Given the description of an element on the screen output the (x, y) to click on. 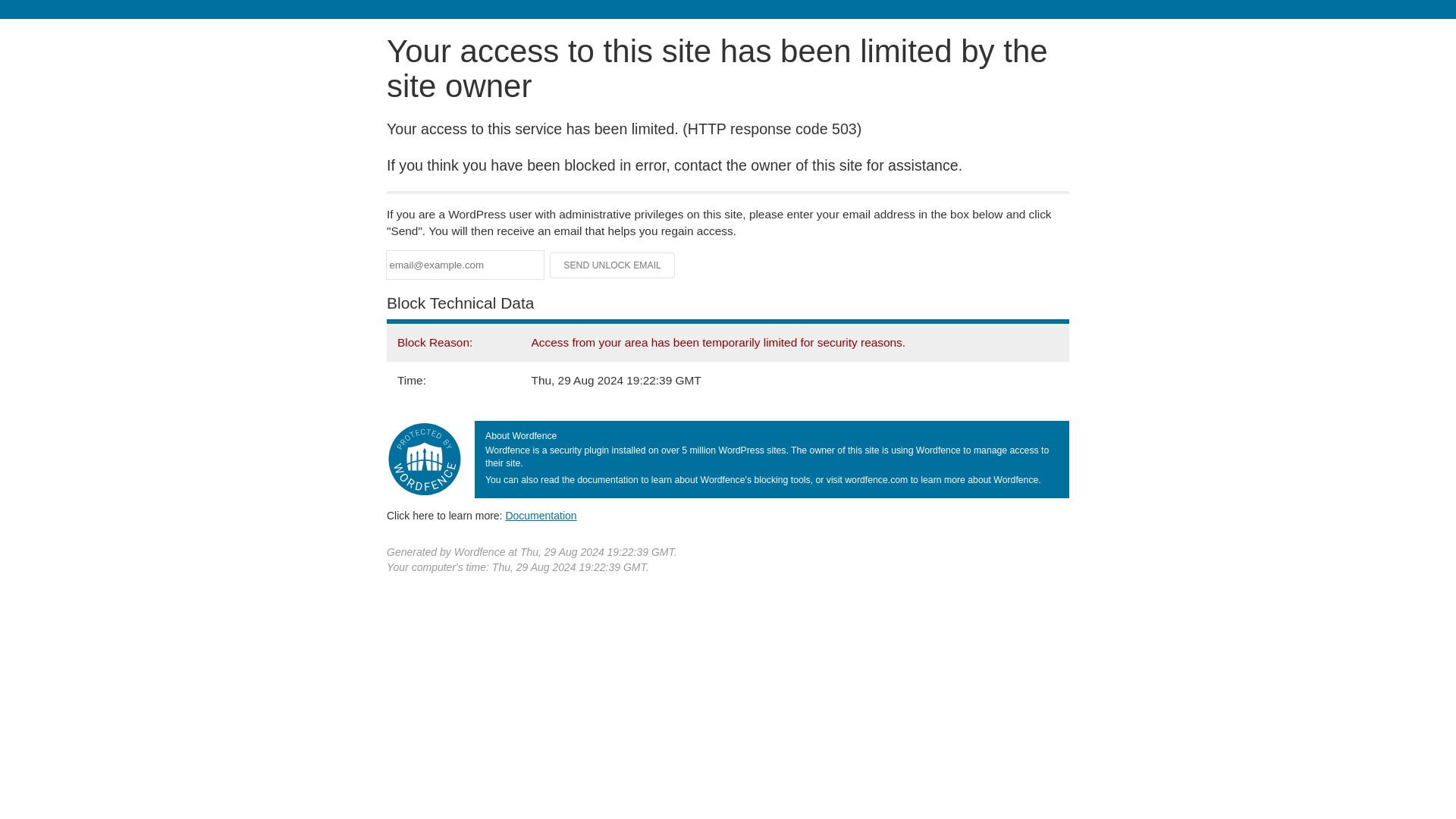
Send Unlock Email (612, 265)
Documentation (540, 515)
Send Unlock Email (612, 265)
